Given the description of an element on the screen output the (x, y) to click on. 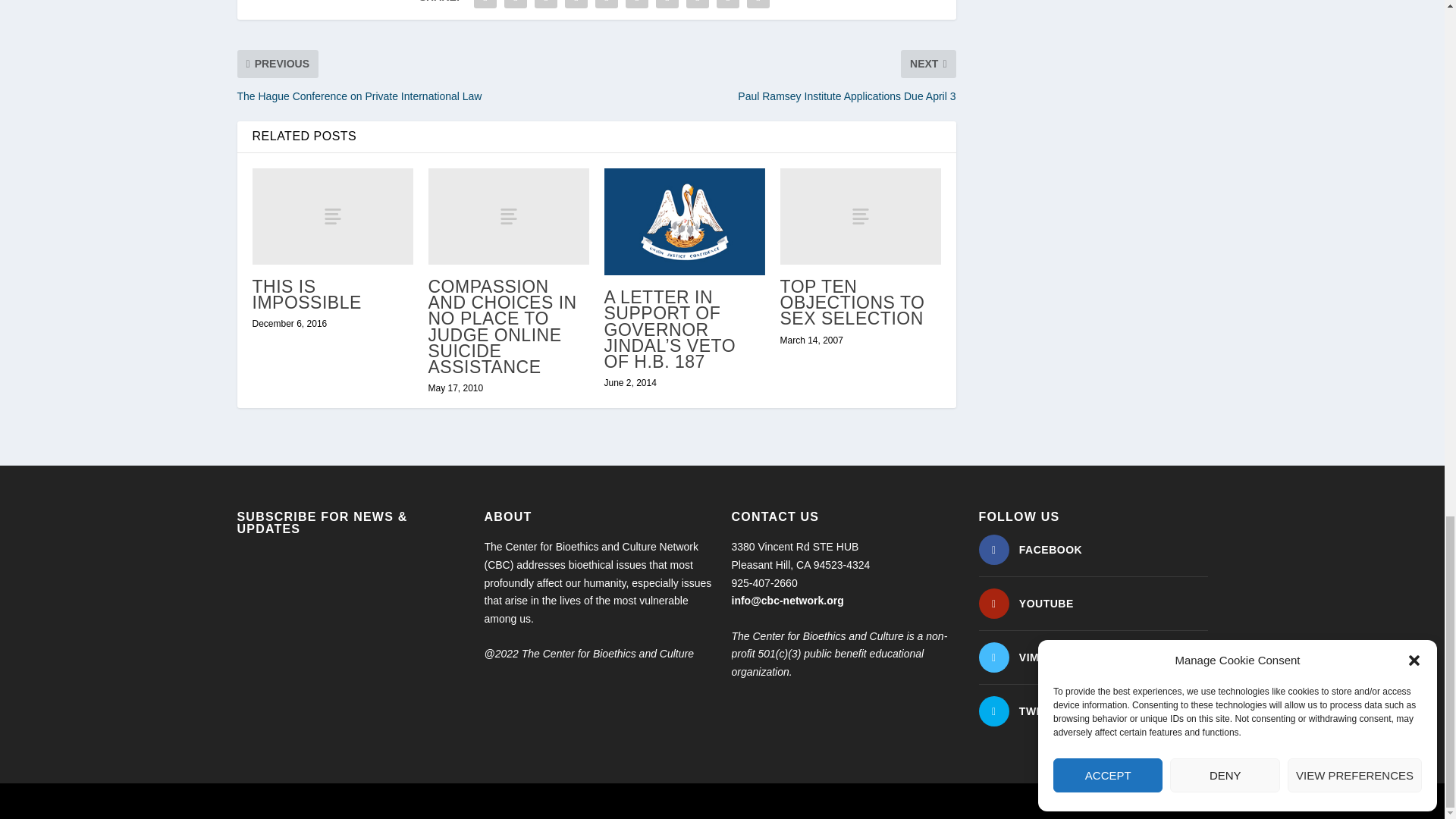
Share "This Week in Bioethics" via Buffer (667, 6)
Share "This Week in Bioethics" via Email (727, 6)
Share "This Week in Bioethics" via Facebook (485, 6)
Share "This Week in Bioethics" via Twitter (515, 6)
Share "This Week in Bioethics" via Pinterest (606, 6)
Share "This Week in Bioethics" via LinkedIn (636, 6)
Share "This Week in Bioethics" via Stumbleupon (697, 6)
Share "This Week in Bioethics" via Print (757, 6)
Share "This Week in Bioethics" via Tumblr (575, 6)
